Given the description of an element on the screen output the (x, y) to click on. 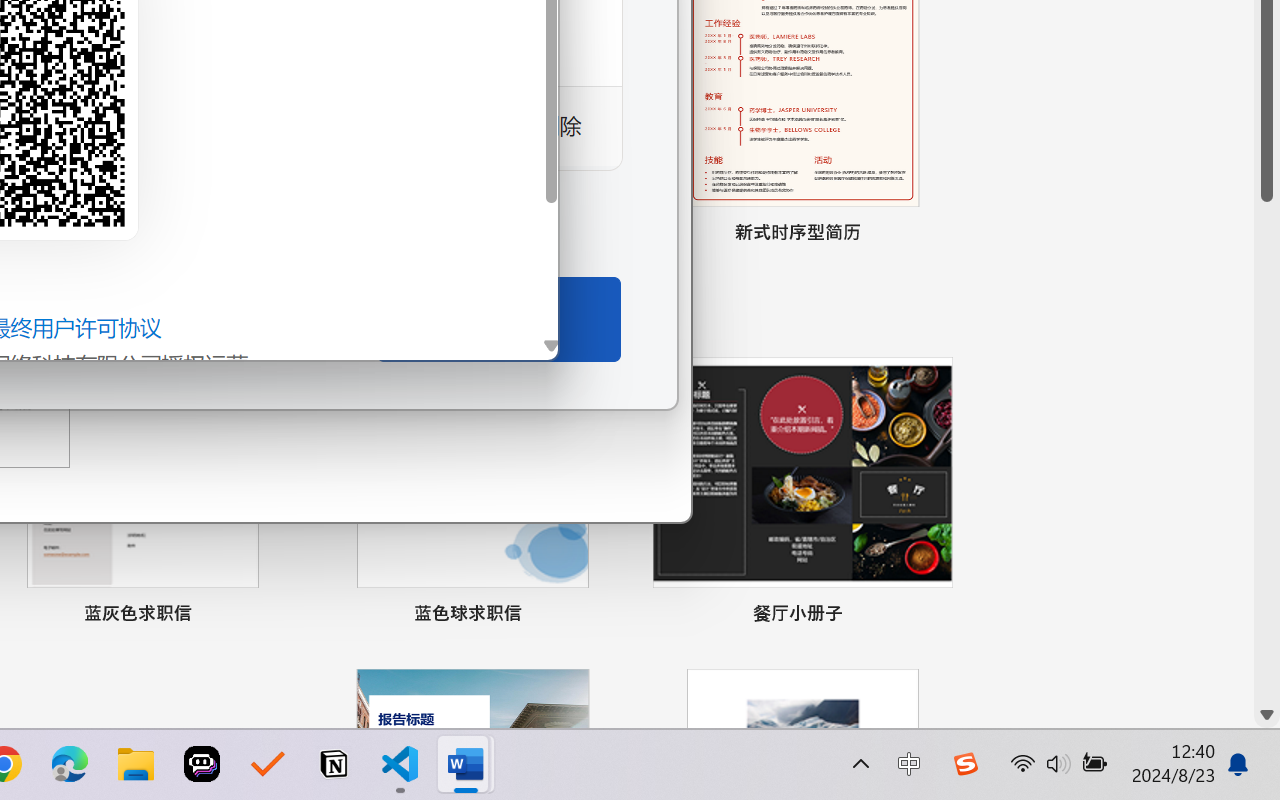
Microsoft Edge (69, 764)
Pin to list (934, 616)
Line down (1267, 715)
Next Template (648, 85)
